Given the description of an element on the screen output the (x, y) to click on. 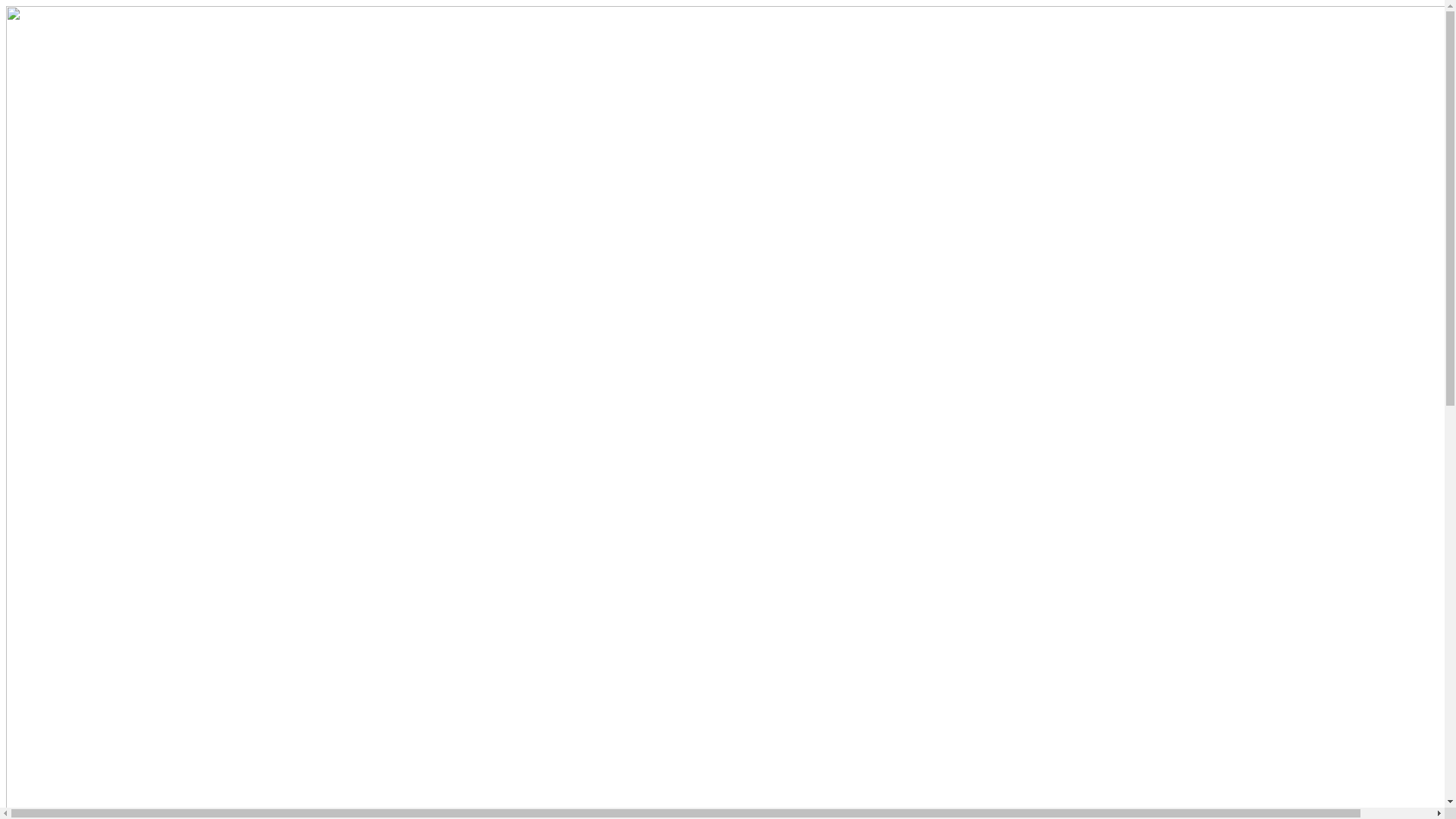
Skip to content Element type: text (5, 5)
